Given the description of an element on the screen output the (x, y) to click on. 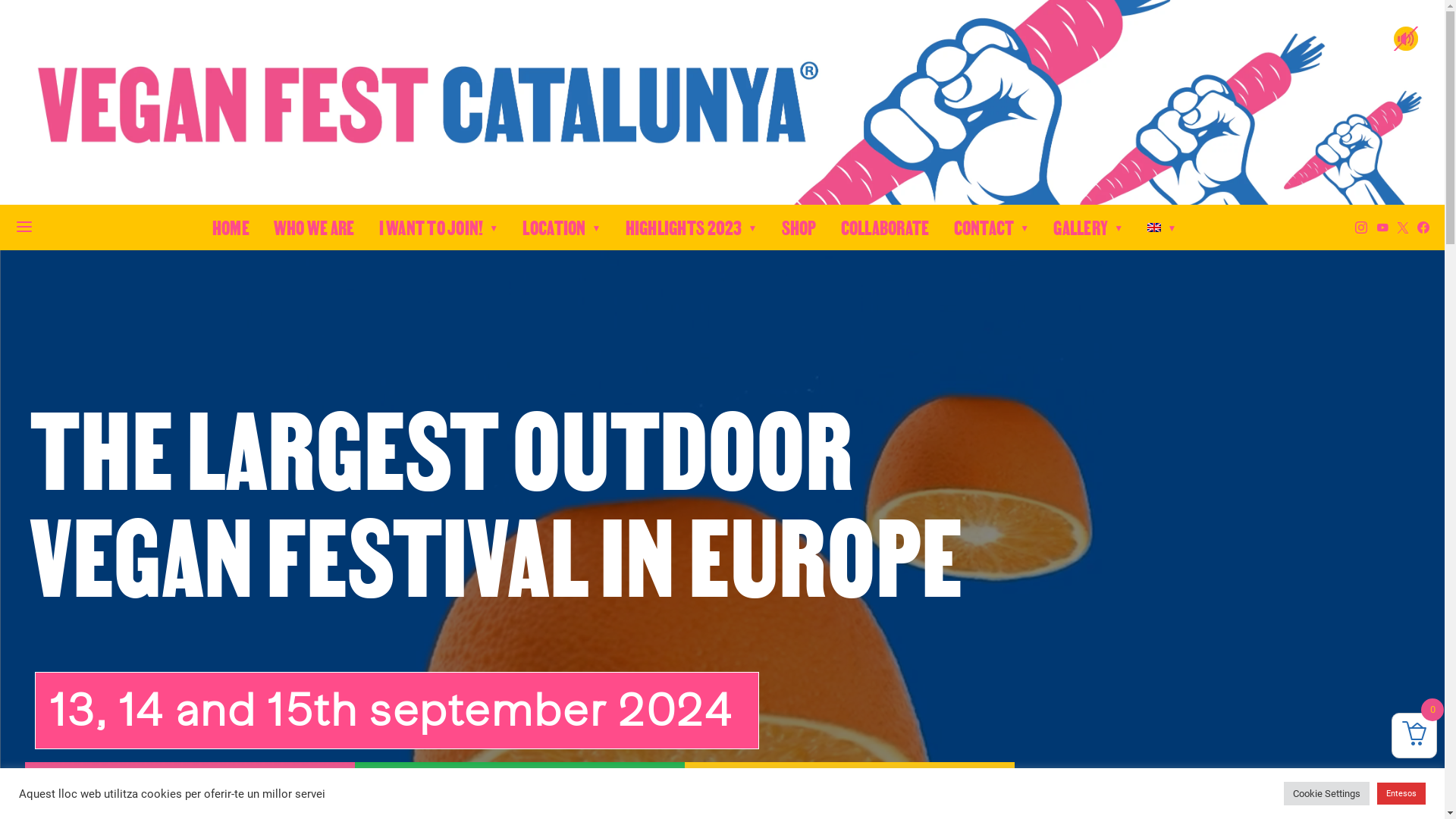
WHO WE ARE Element type: text (313, 227)
Entesos Element type: text (1401, 793)
LOCATION Element type: text (561, 227)
SHOP Element type: text (798, 227)
COLLABORATE Element type: text (884, 227)
13, 14 and 15th september 2024 Element type: text (396, 710)
HIGHLIGHTS 2023 Element type: text (691, 227)
Cookie Settings Element type: text (1326, 793)
HOME Element type: text (230, 227)
I WANT TO JOIN! Element type: text (438, 227)
CONTACT Element type: text (991, 227)
GALLERY Element type: text (1088, 227)
